Given the description of an element on the screen output the (x, y) to click on. 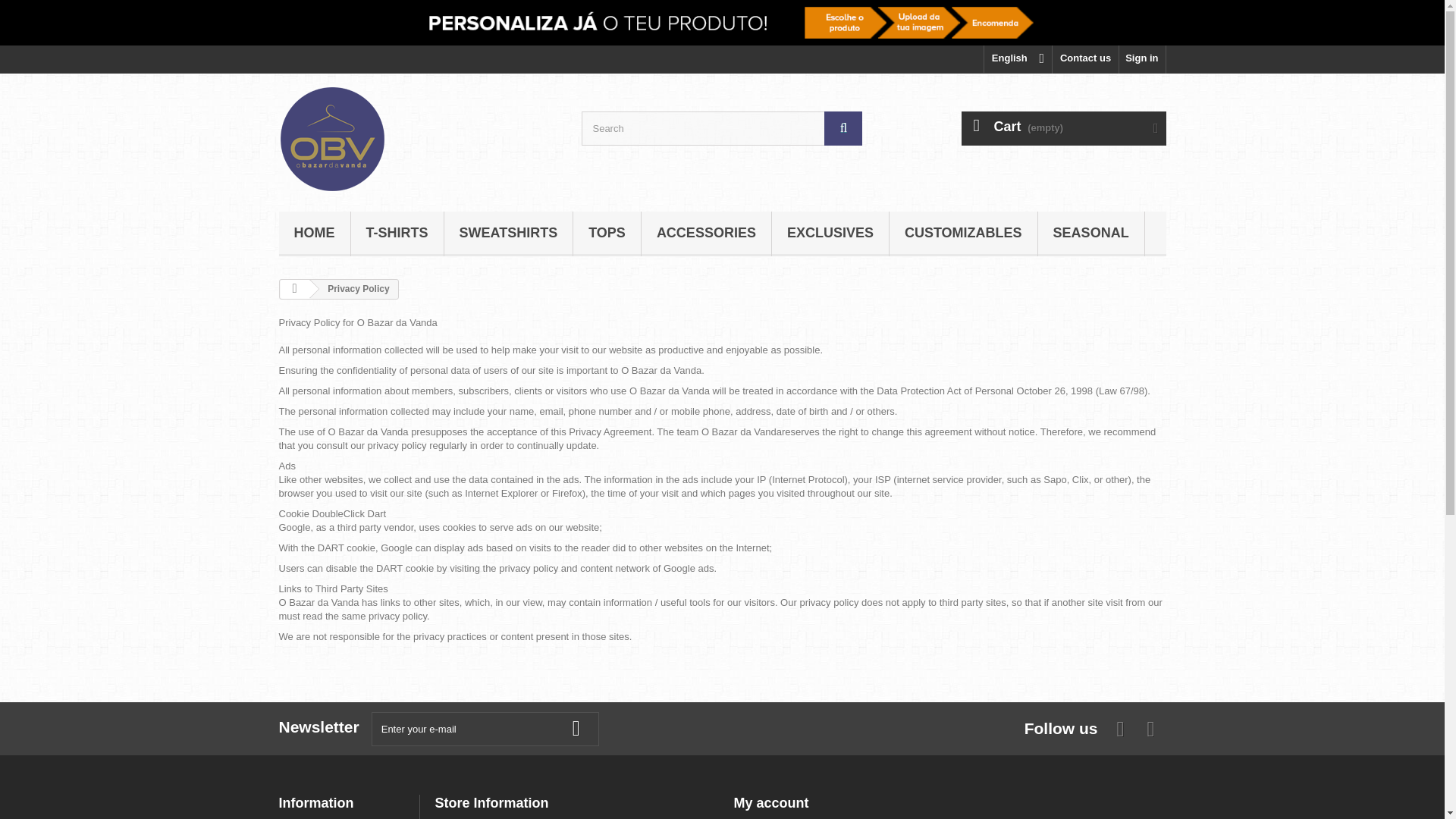
View my shopping cart (1063, 128)
Contact us (1085, 59)
Contact Us (1085, 59)
TOPS (606, 233)
HOME (314, 233)
O Bazar da Vanda (419, 138)
T-SHIRTS (396, 233)
Log in to your customer account (1141, 59)
Home (314, 233)
Sign in (1141, 59)
SWEATSHIRTS (508, 233)
Enter your e-mail (484, 728)
